Given the description of an element on the screen output the (x, y) to click on. 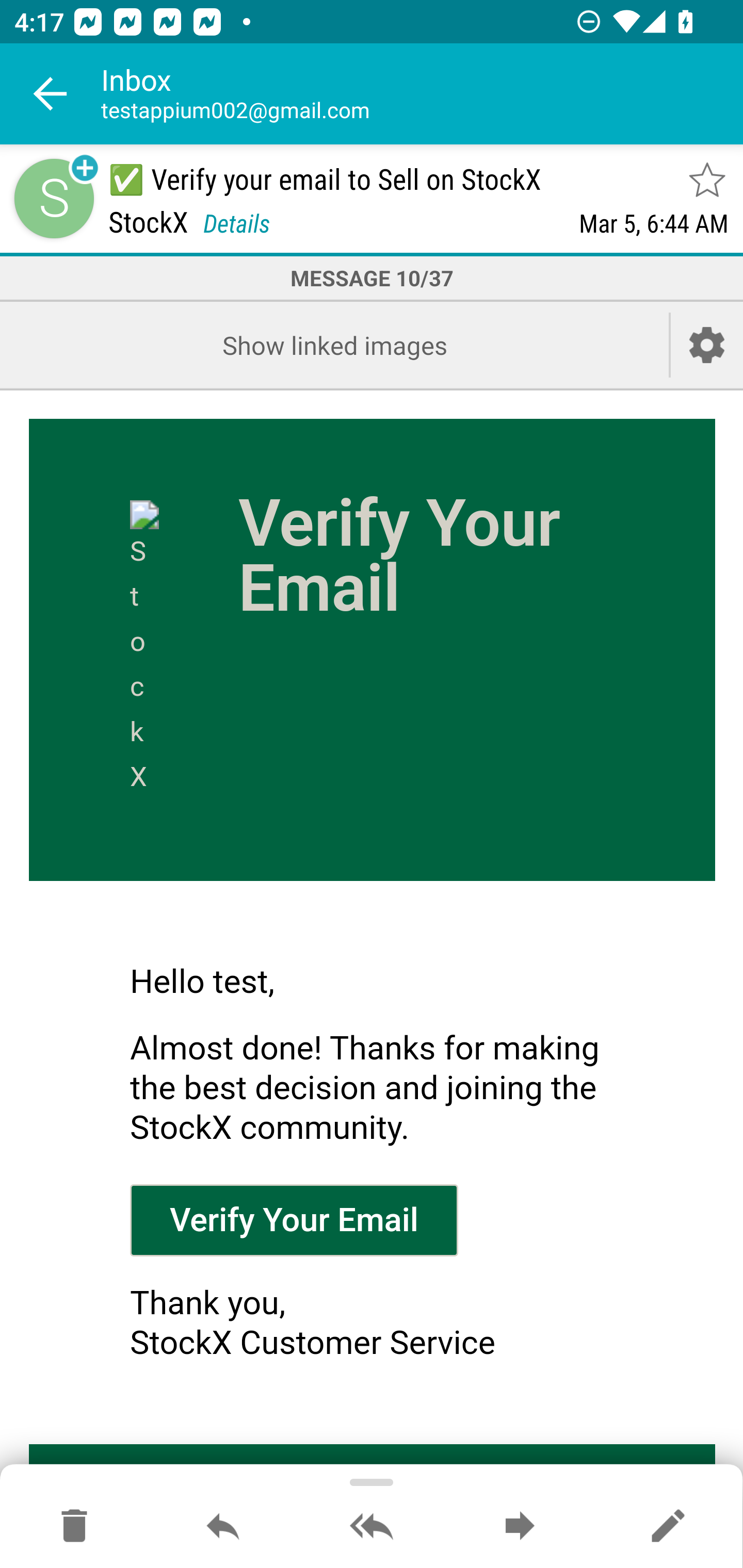
Navigate up (50, 93)
Inbox testappium002@gmail.com (422, 93)
Sender contact button (53, 198)
Show linked images (334, 344)
Account setup (706, 344)
StockX (145, 649)
Verify Your Email (293, 1219)
Move to Deleted (74, 1527)
Reply (222, 1527)
Reply all (371, 1527)
Forward (519, 1527)
Reply as new (667, 1527)
